Given the description of an element on the screen output the (x, y) to click on. 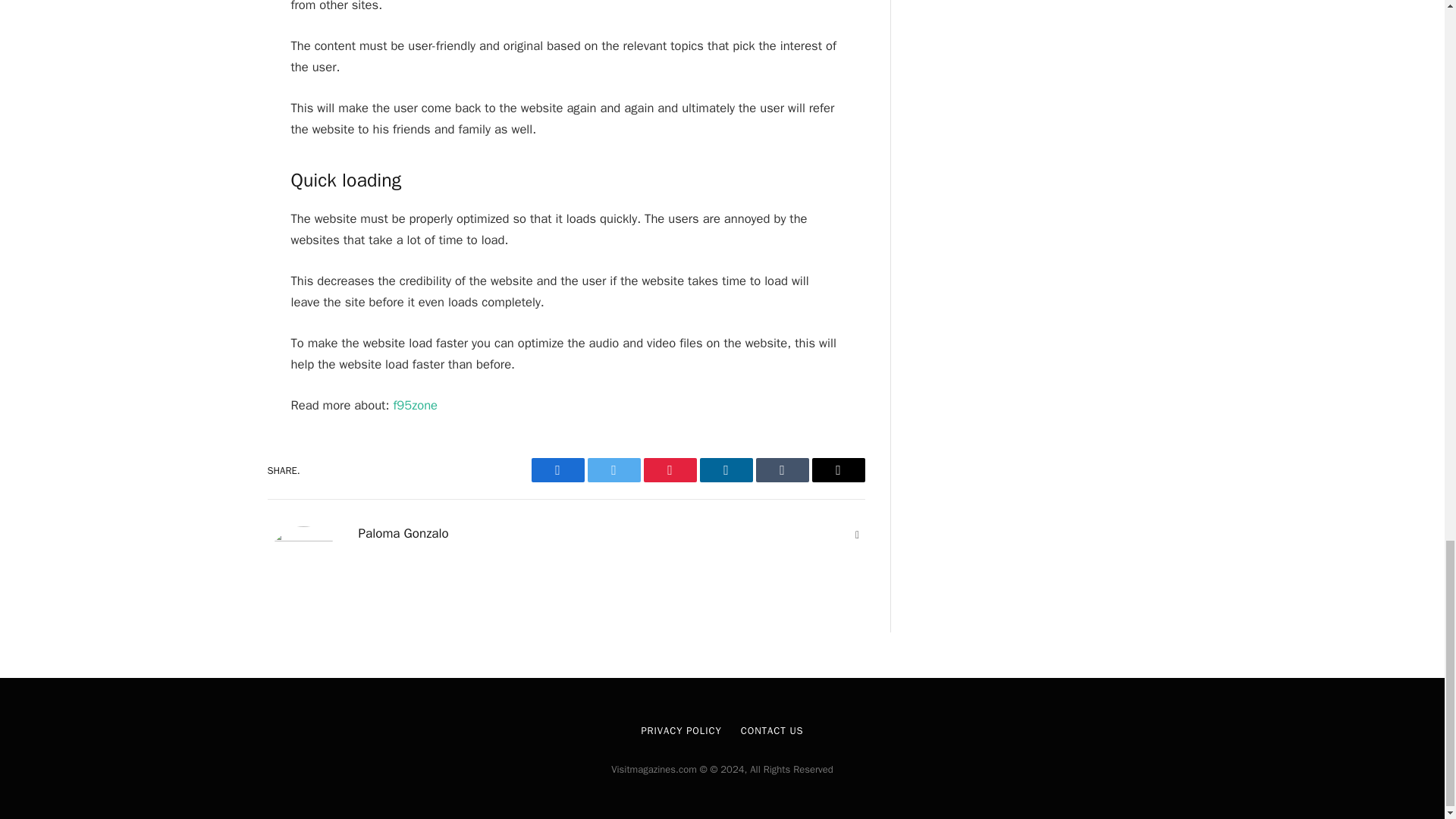
f95zone (415, 405)
Facebook (557, 469)
